Given the description of an element on the screen output the (x, y) to click on. 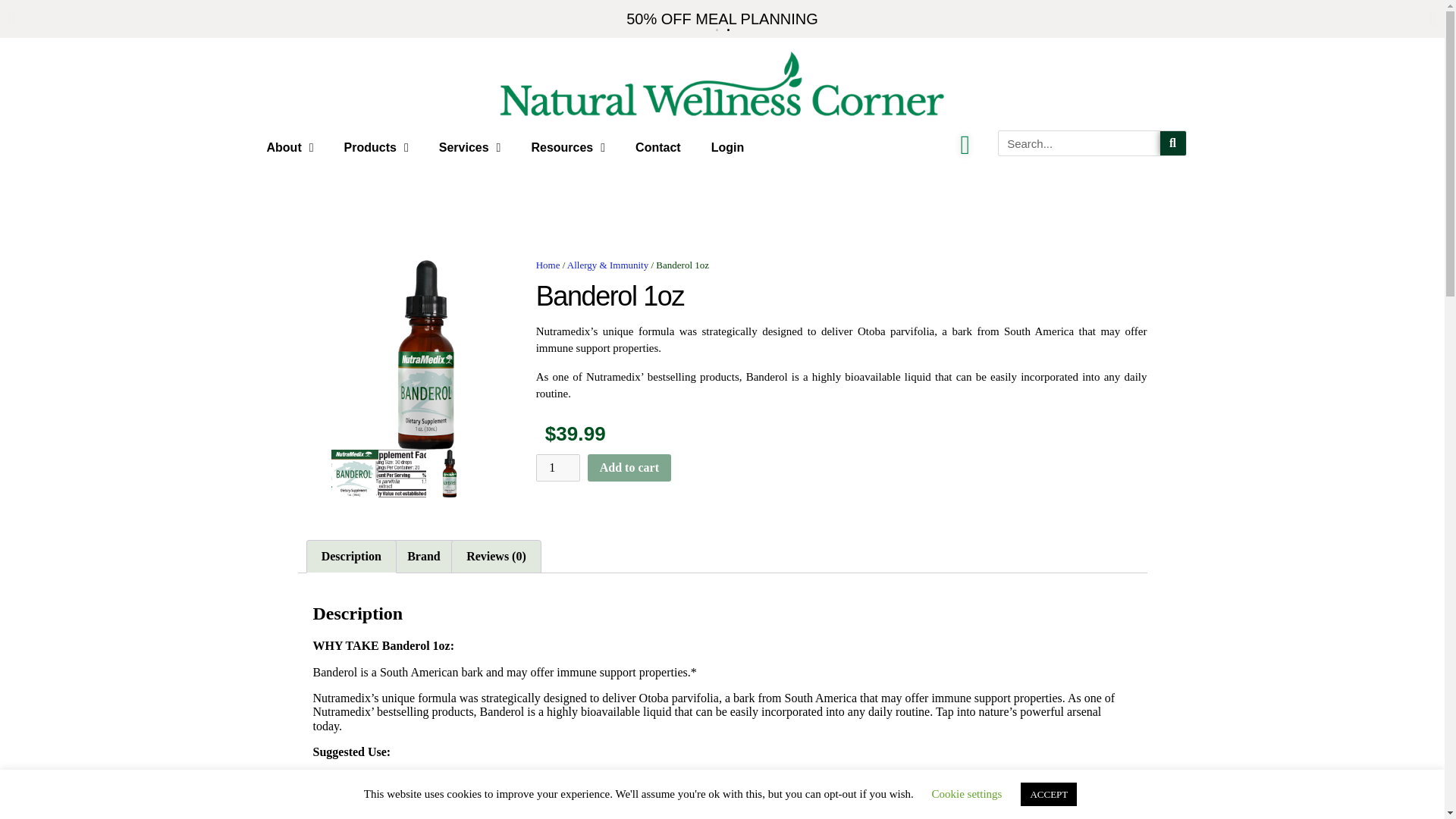
BAND3 (402, 473)
BADN1 (426, 354)
Products (376, 147)
About (290, 147)
Contact (657, 147)
Resources (567, 147)
1 (557, 467)
BAND2 (354, 473)
Services (469, 147)
BADN1 (450, 473)
Login (727, 147)
